Given the description of an element on the screen output the (x, y) to click on. 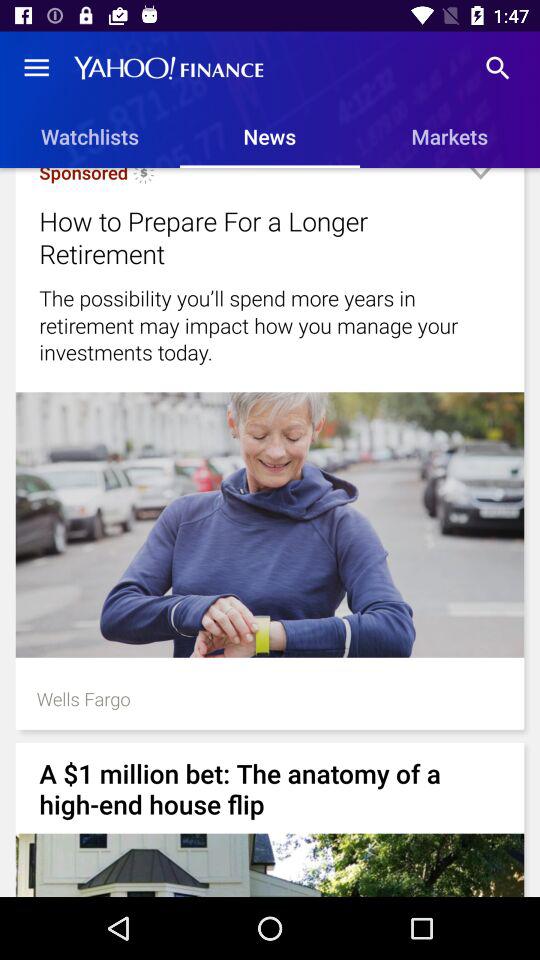
open the icon below a 1 million (269, 864)
